Given the description of an element on the screen output the (x, y) to click on. 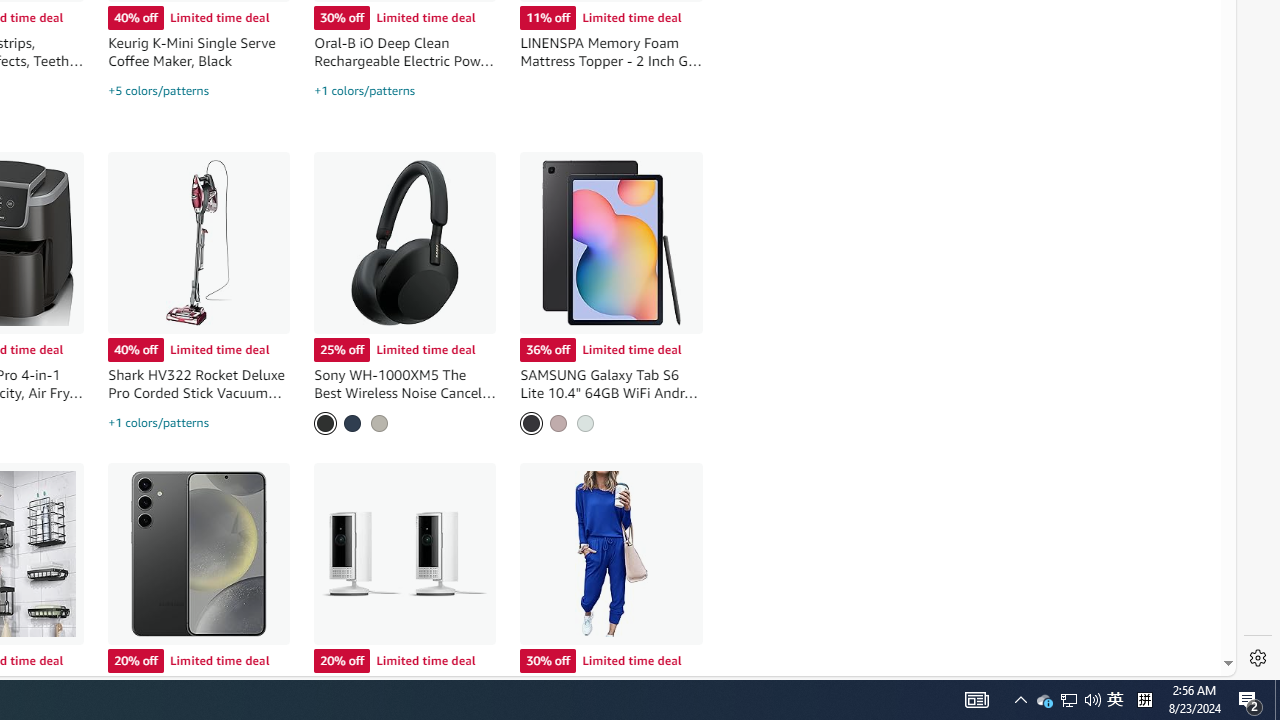
+5 colors/patterns (157, 90)
